Given the description of an element on the screen output the (x, y) to click on. 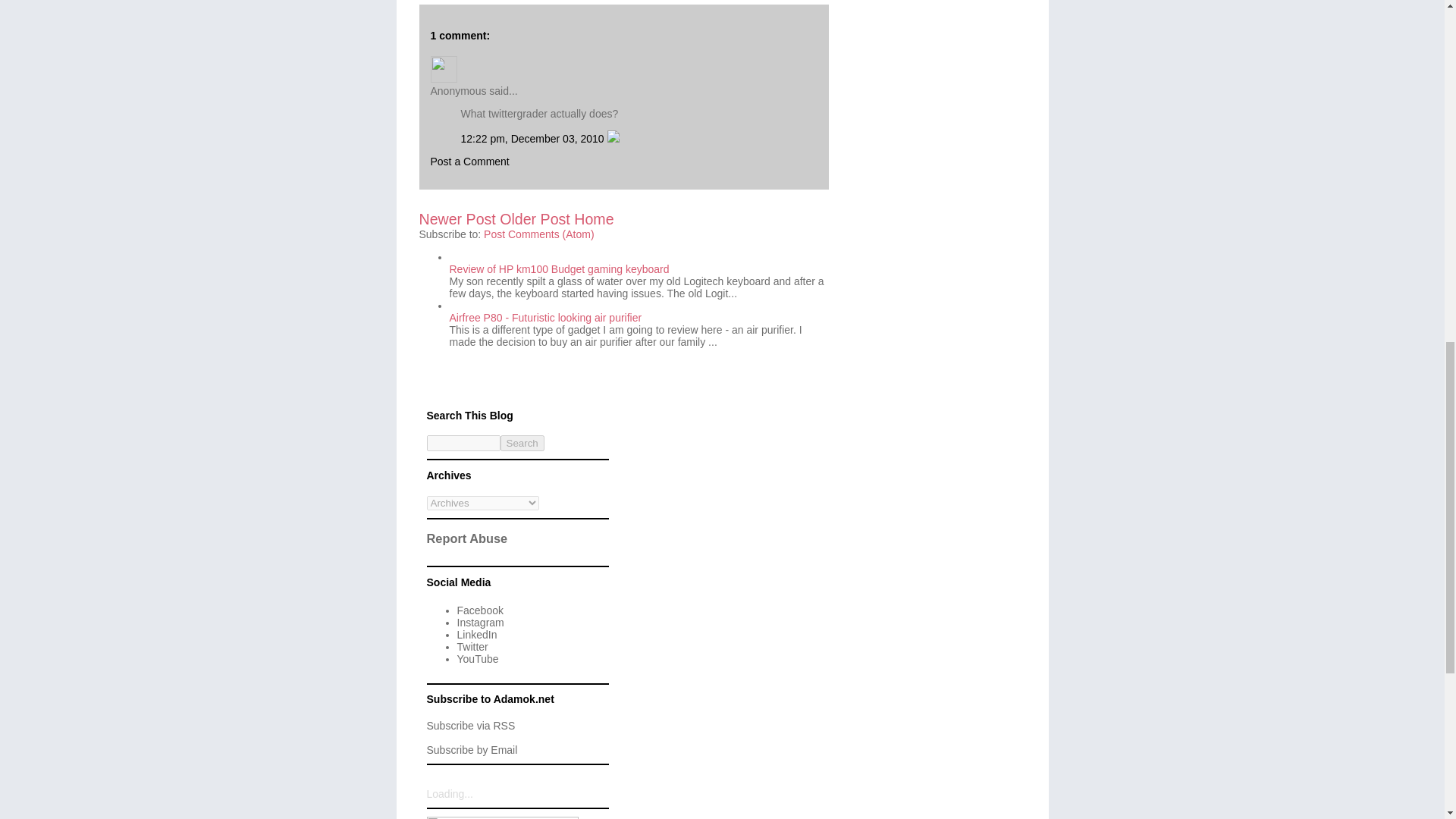
Older Post (534, 218)
Post a Comment (469, 161)
Older Post (534, 218)
LinkedIn (476, 634)
search (522, 442)
Airfree P80 - Futuristic looking air purifier (545, 317)
YouTube (477, 658)
Delete Comment (613, 138)
search (462, 442)
Report Abuse (466, 538)
